Given the description of an element on the screen output the (x, y) to click on. 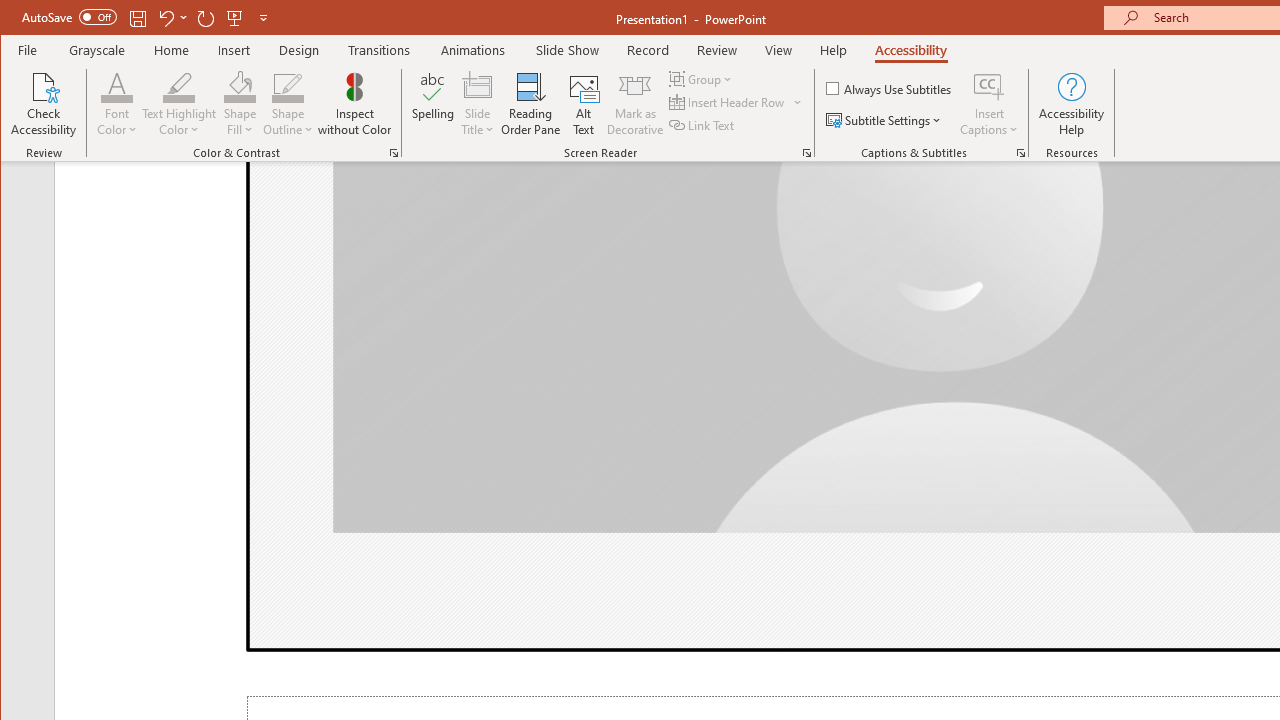
Accessibility Help (1071, 104)
Inspect without Color (355, 104)
Insert Header Row (728, 101)
